Given the description of an element on the screen output the (x, y) to click on. 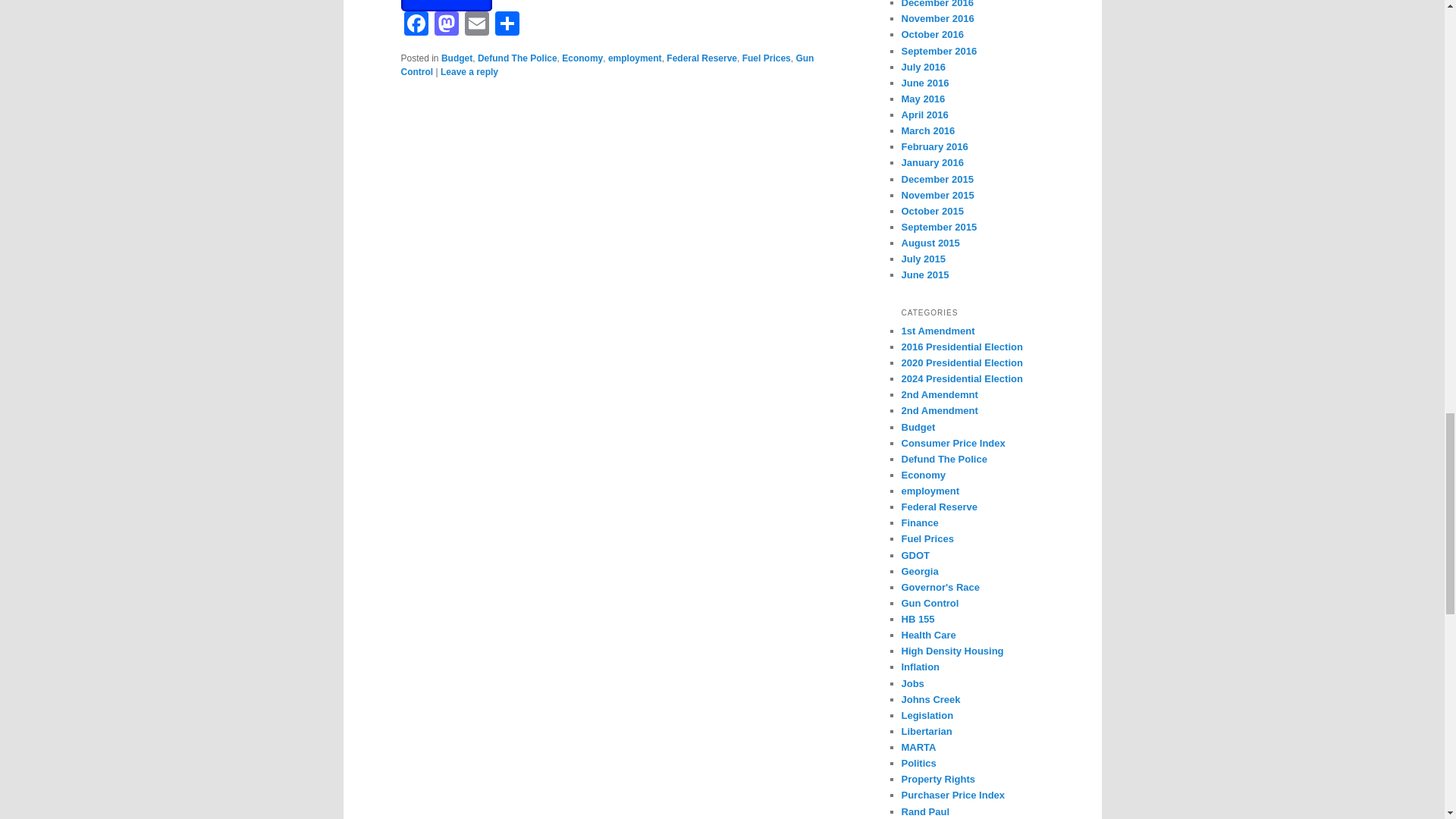
Defund The Police (517, 58)
Economy (582, 58)
Mastodon (445, 25)
Facebook (415, 25)
Facebook (415, 25)
Leave a reply (469, 71)
Mastodon (445, 25)
Fuel Prices (766, 58)
Email (476, 25)
Gun Control (606, 64)
